Given the description of an element on the screen output the (x, y) to click on. 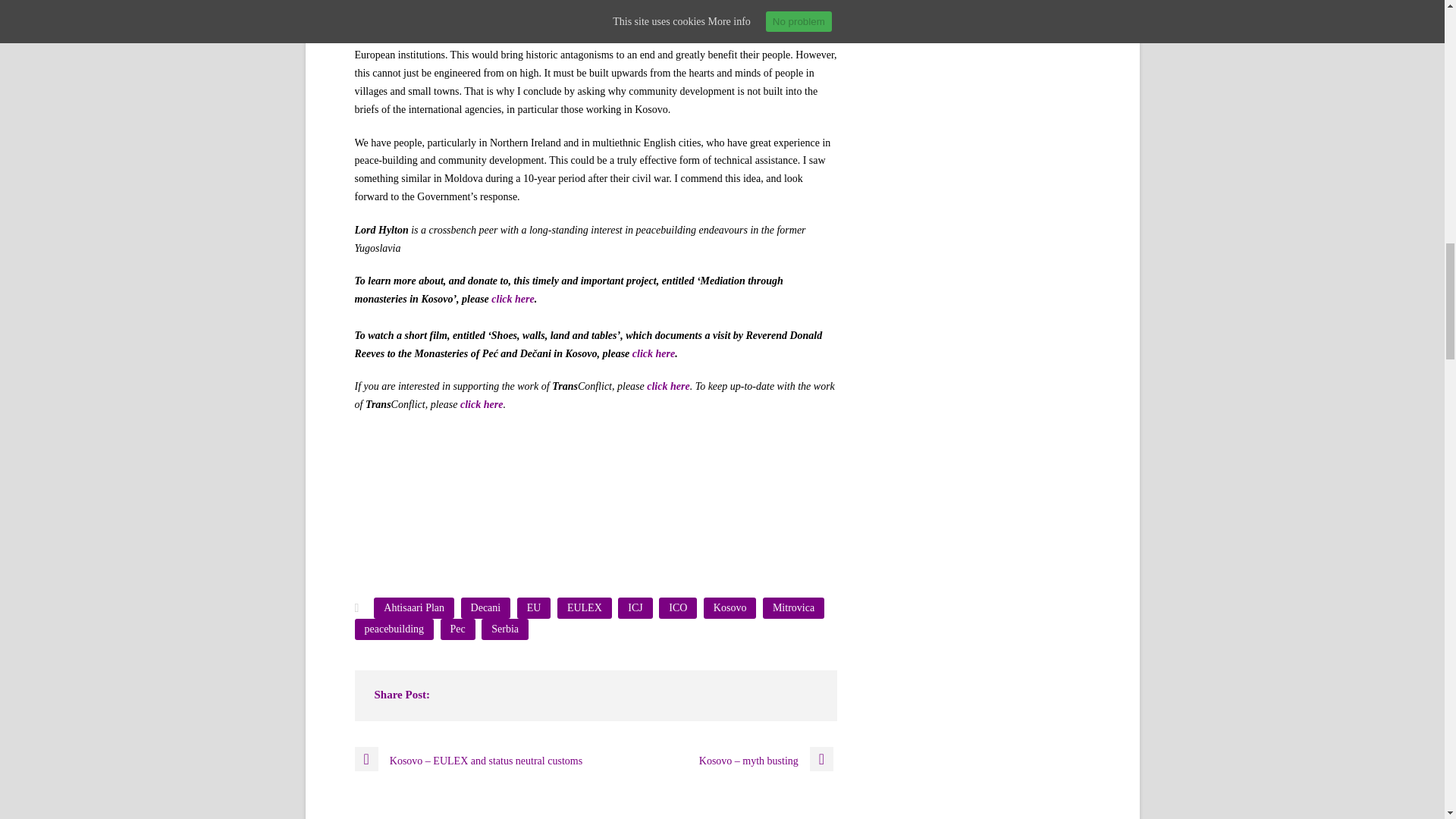
Share on Twitter (567, 453)
Share by email (680, 453)
Share on Linkedin (623, 453)
Share on Facebook (511, 453)
